Given the description of an element on the screen output the (x, y) to click on. 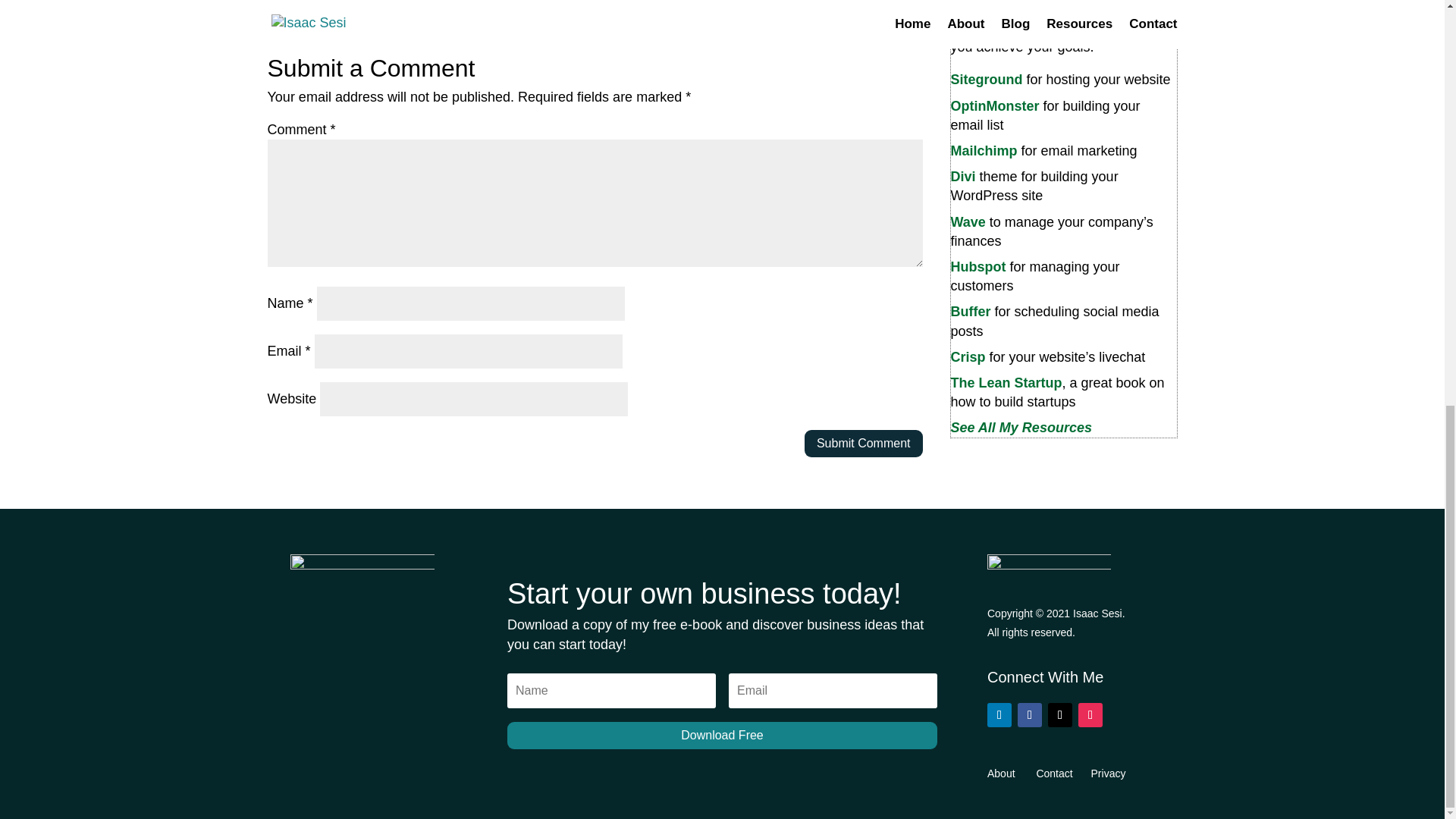
The Lean Startup (1006, 382)
Download Free (721, 735)
OptinMonster (994, 105)
Mailchimp (983, 150)
Hubspot (978, 266)
Follow on LinkedIn (999, 714)
Follow on Facebook (1029, 714)
Contact (1061, 773)
Buffer (970, 311)
Follow on X (1059, 714)
Submit Comment (864, 443)
Siteground (986, 79)
About (1008, 773)
Privacy (1107, 773)
Follow on Instagram (1090, 714)
